Given the description of an element on the screen output the (x, y) to click on. 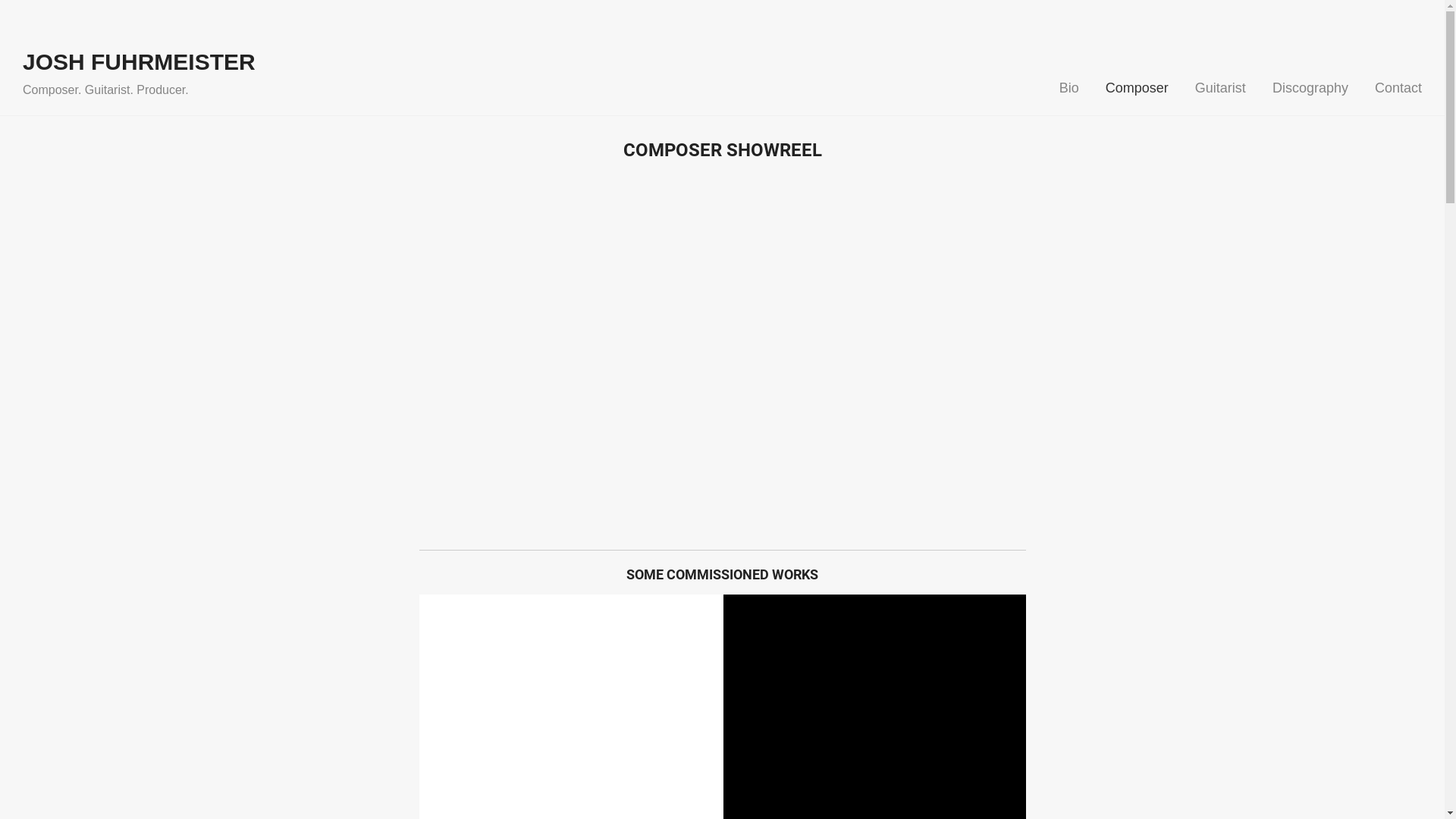
Discography Element type: text (1310, 88)
Guitarist Element type: text (1220, 88)
Bio Element type: text (1069, 88)
Contact Element type: text (1397, 88)
JOSH FUHRMEISTER Element type: text (138, 61)
Composer Element type: text (1136, 88)
